Given the description of an element on the screen output the (x, y) to click on. 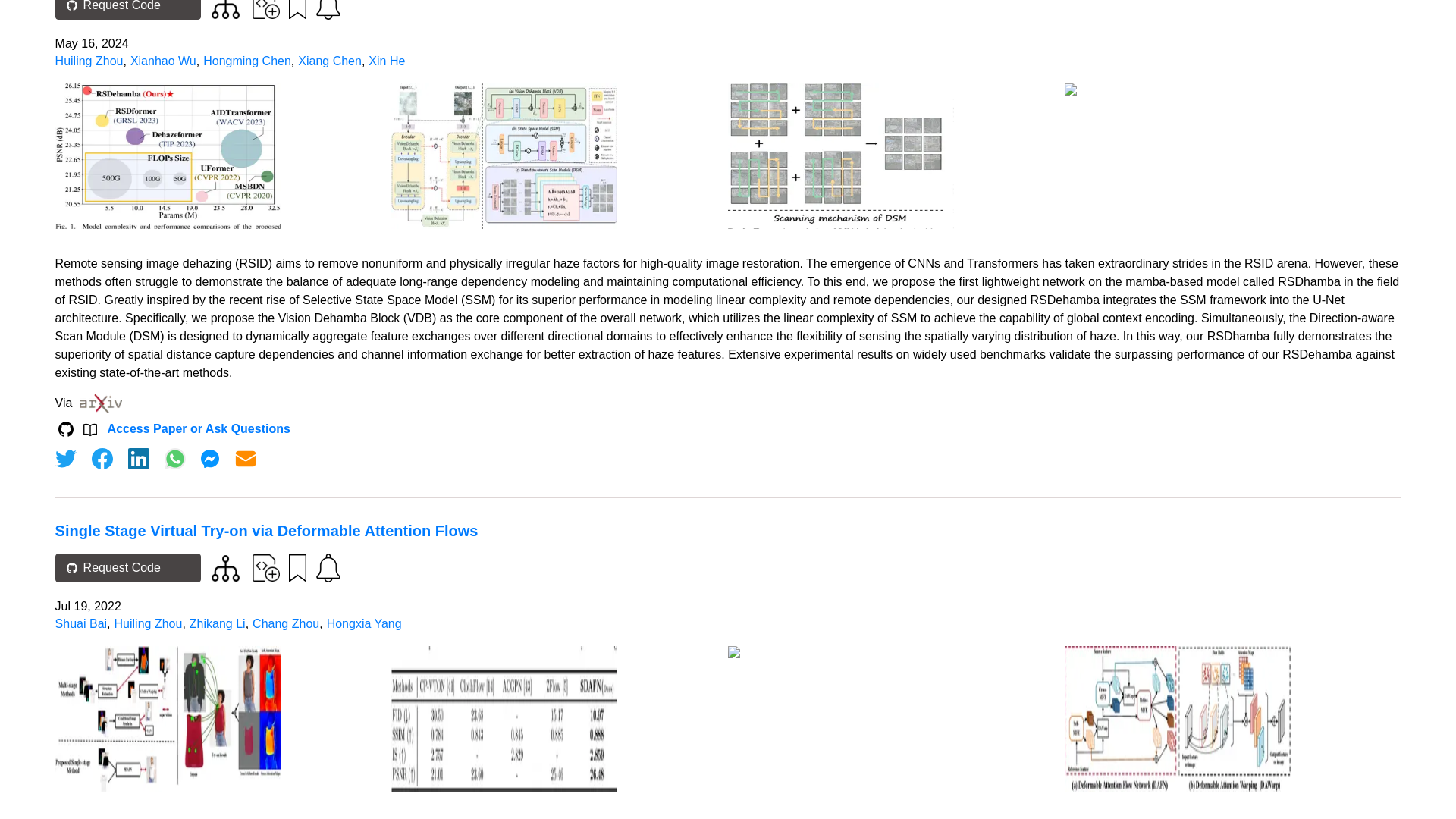
Contribute your code for this paper to the community (265, 567)
Bookmark this paper (295, 11)
Request Code (127, 9)
Huiling Zhou (89, 60)
Contribute your code for this paper to the community (265, 9)
View code for similar papers (225, 568)
Access Paper or Ask Questions (198, 428)
Share via Email (245, 458)
Xiang Chen (329, 60)
Xin He (386, 60)
